Given the description of an element on the screen output the (x, y) to click on. 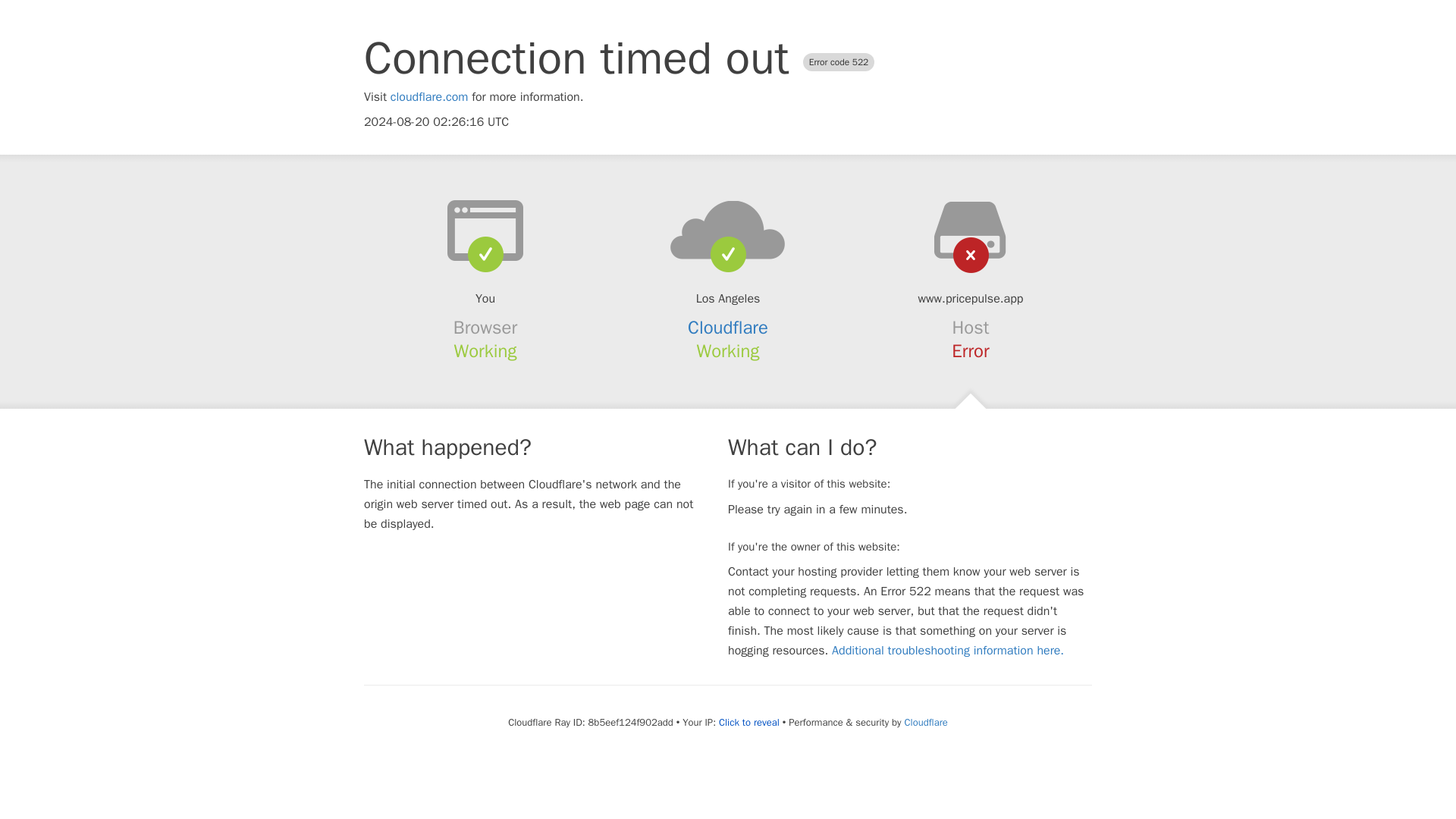
Cloudflare (727, 327)
Click to reveal (748, 722)
cloudflare.com (429, 96)
Cloudflare (925, 721)
Additional troubleshooting information here. (947, 650)
